Given the description of an element on the screen output the (x, y) to click on. 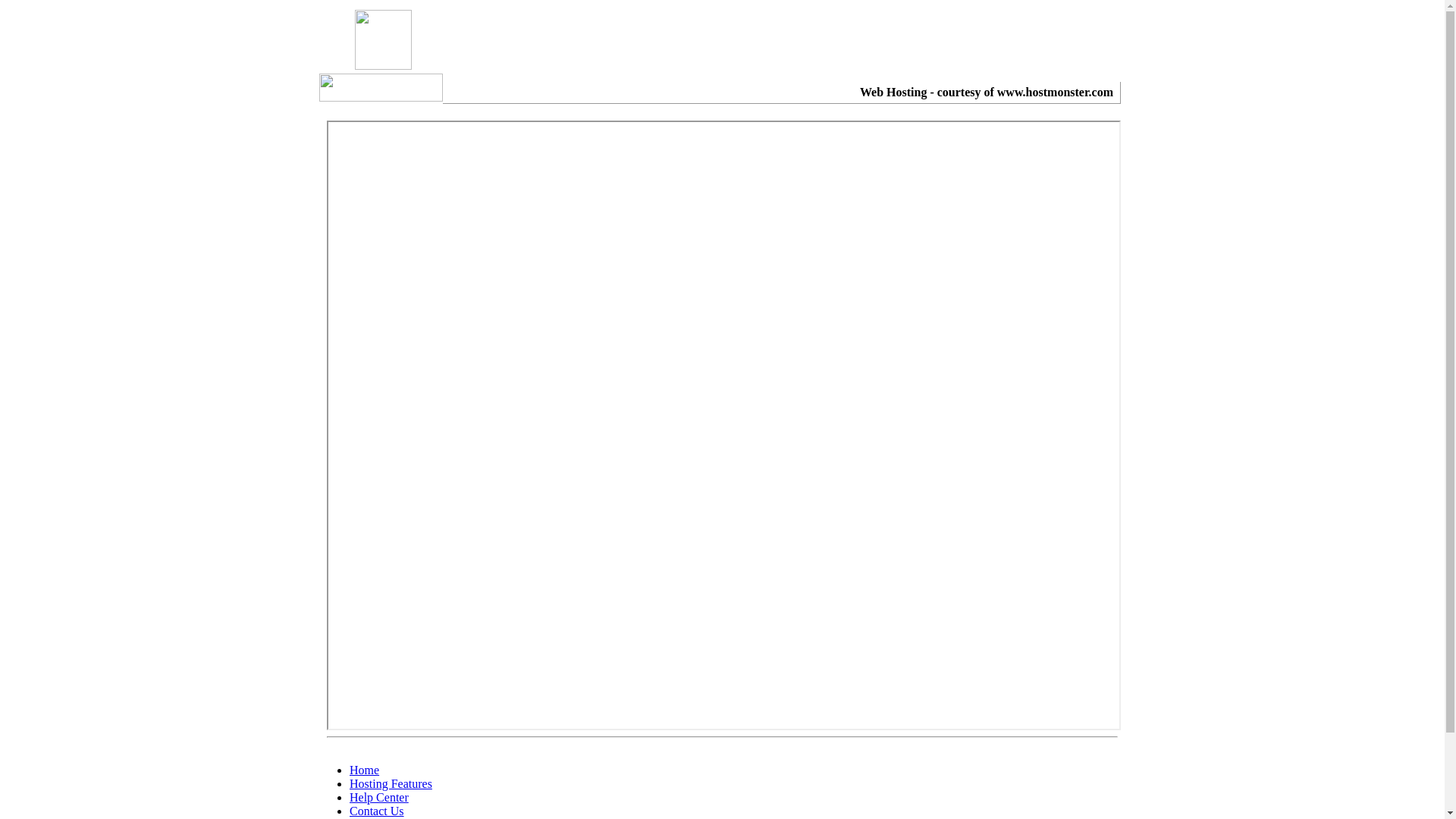
Home Element type: text (364, 769)
Web Hosting - courtesy of www.hostmonster.com Element type: text (986, 91)
Contact Us Element type: text (376, 810)
Help Center Element type: text (378, 796)
Hosting Features Element type: text (390, 783)
